Given the description of an element on the screen output the (x, y) to click on. 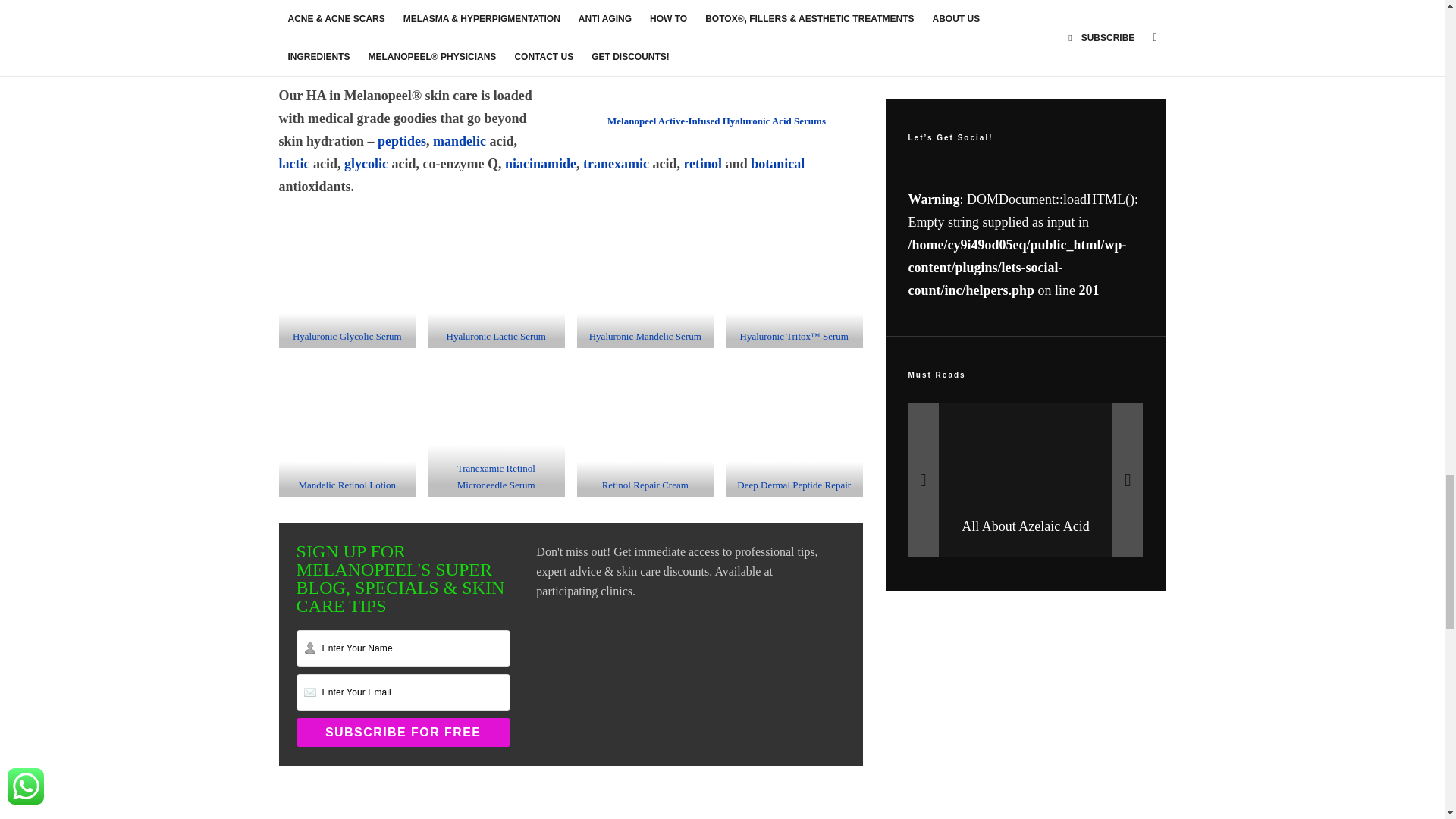
SUBSCRIBE FOR FREE (404, 732)
glycolic (365, 163)
Melanopeel Active-Infused Hyaluronic Acid Serums (716, 120)
mandelic (459, 140)
lactic (294, 163)
peptides (401, 140)
